Given the description of an element on the screen output the (x, y) to click on. 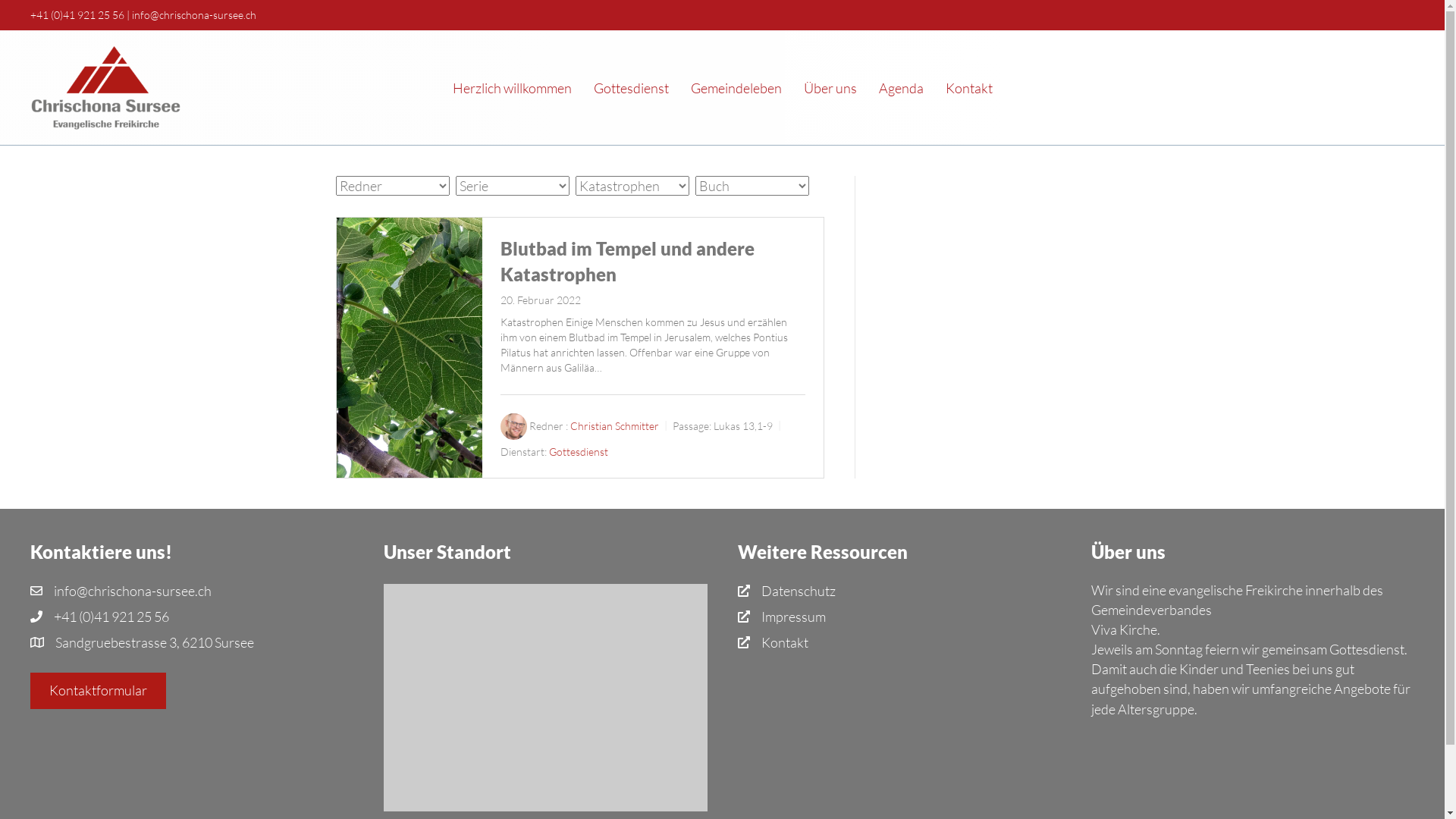
Agenda Element type: text (900, 87)
Kontaktformular Element type: text (98, 690)
Gottesdienst Element type: text (578, 451)
info@chrischona-sursee.ch Element type: text (193, 14)
Herzlich willkommen Element type: text (511, 87)
+41 (0)41 921 25 56 Element type: text (111, 616)
Kontakt Element type: text (968, 87)
Sandgruebestrasse 3, 6210 Sursee Element type: text (154, 642)
Gottesdienst Element type: text (630, 87)
Gemeindeleben Element type: text (735, 87)
Christian Schmitter Element type: text (614, 425)
Impressum Element type: text (793, 616)
Datenschutz Element type: text (798, 590)
Kontakt Element type: text (784, 642)
Blutbad im Tempel und andere Katastrophen Element type: text (627, 261)
info@chrischona-sursee.ch Element type: text (132, 590)
+41 (0)41 921 25 56 Element type: text (77, 14)
Logo_Sursee_mU_oR-1 Element type: hover (106, 87)
